Given the description of an element on the screen output the (x, y) to click on. 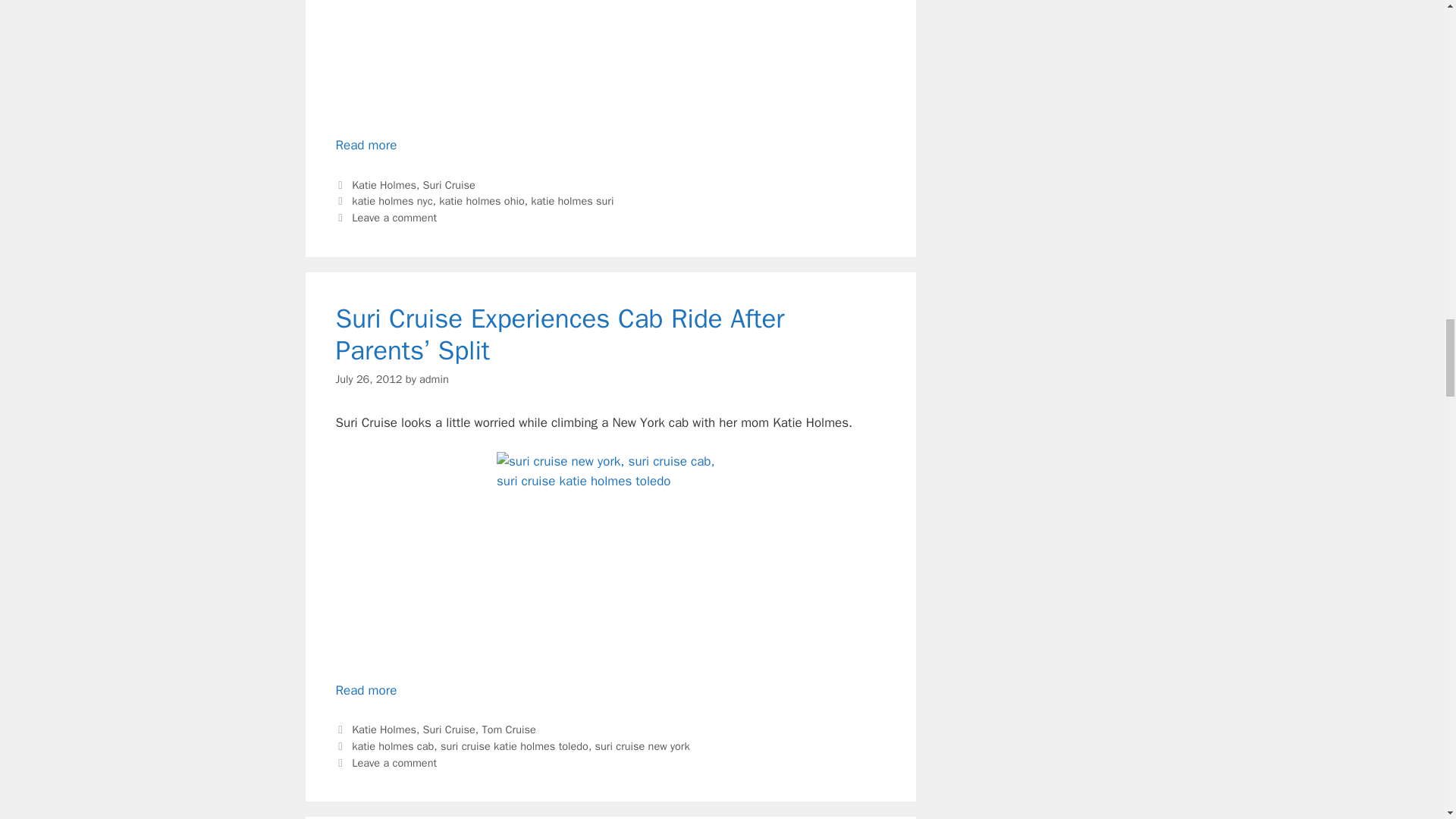
Katie Holmes And Suri Cruise Share A Laugh In New York (365, 145)
Katie Holmes And Suri Cruise Share A Laugh In New York  (609, 58)
